Given the description of an element on the screen output the (x, y) to click on. 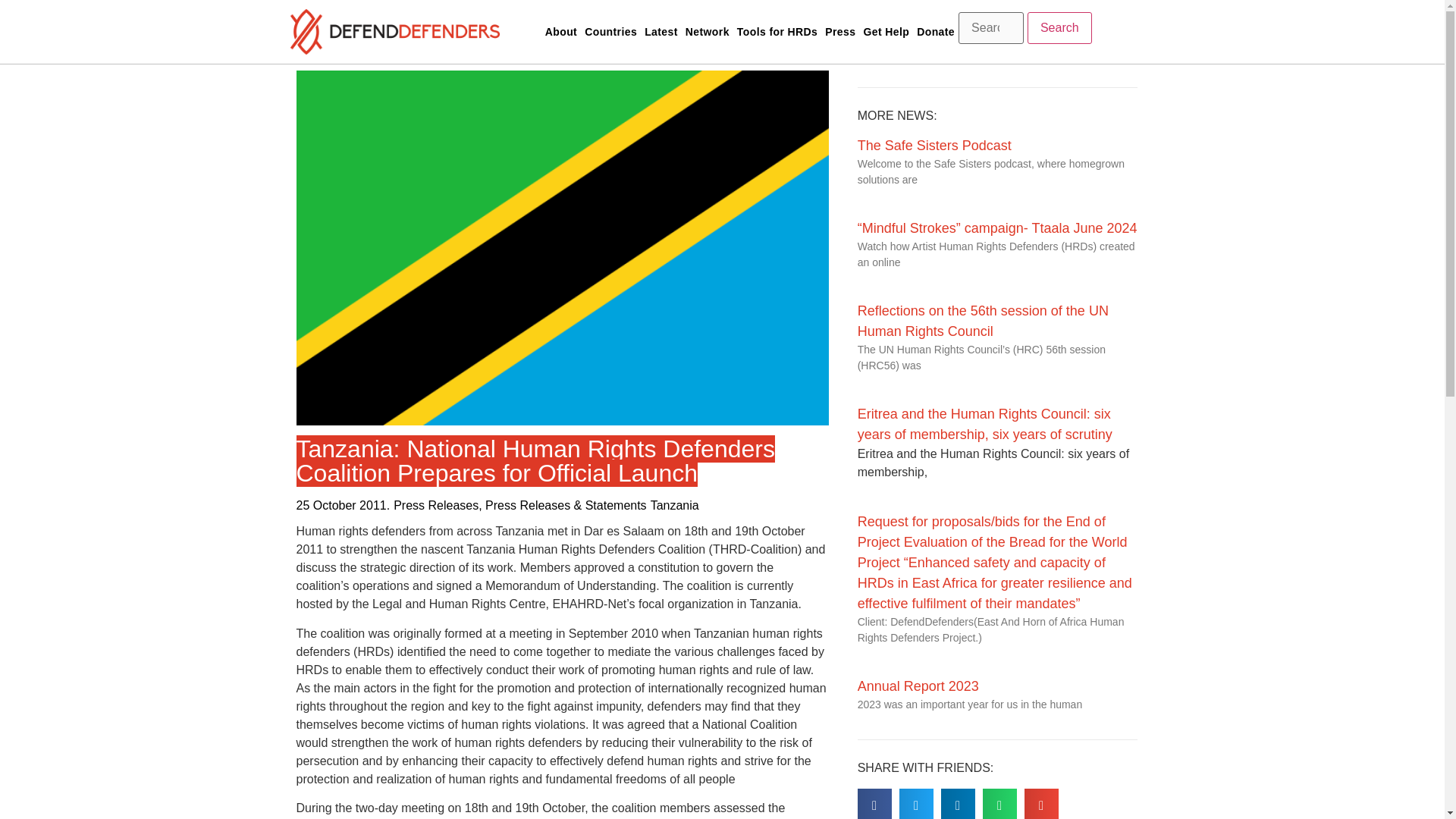
Countries (610, 31)
Search (1059, 28)
Search (1059, 28)
